Given the description of an element on the screen output the (x, y) to click on. 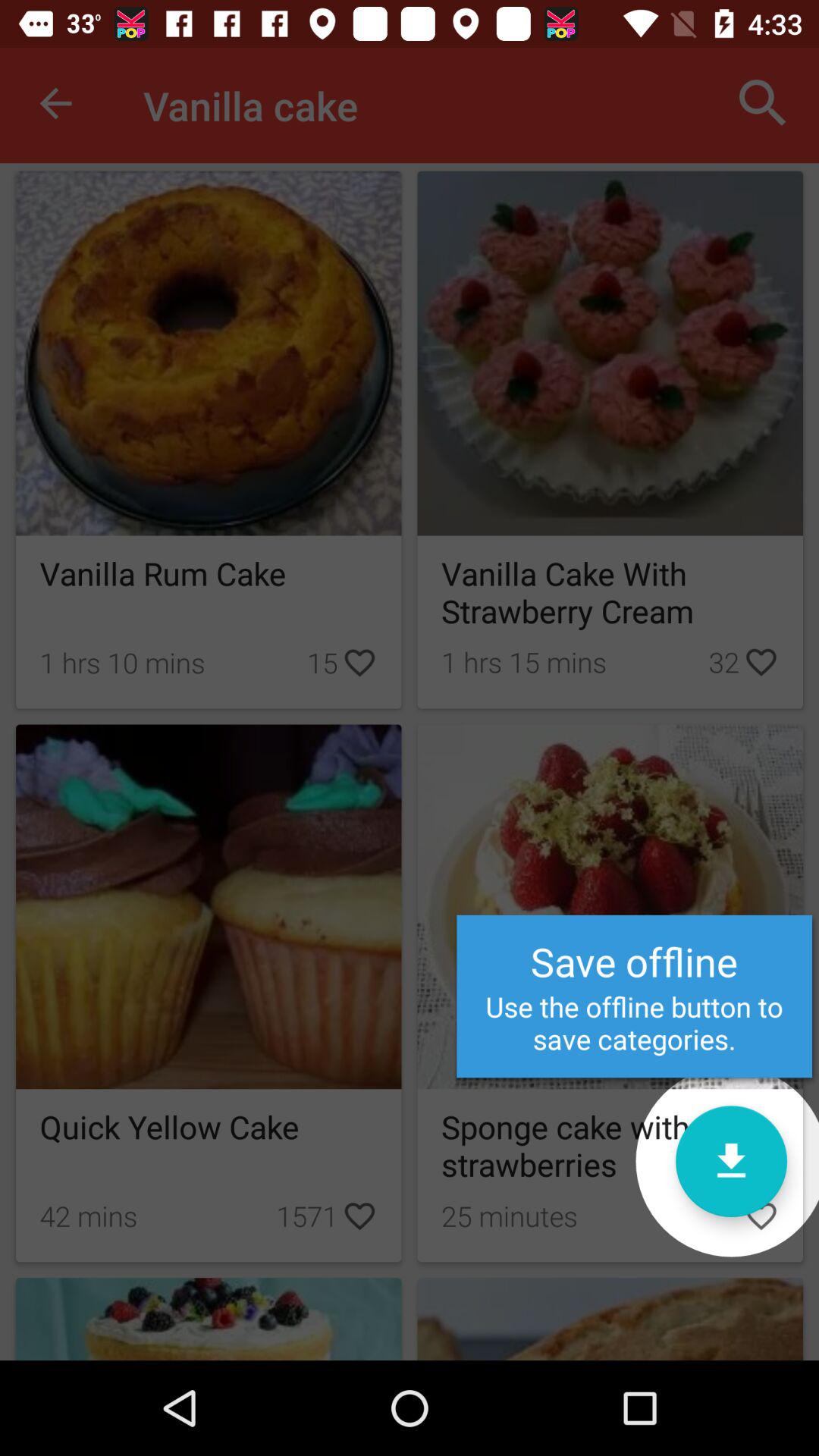
turn on item next to the quick yellow cake item (731, 1161)
